Given the description of an element on the screen output the (x, y) to click on. 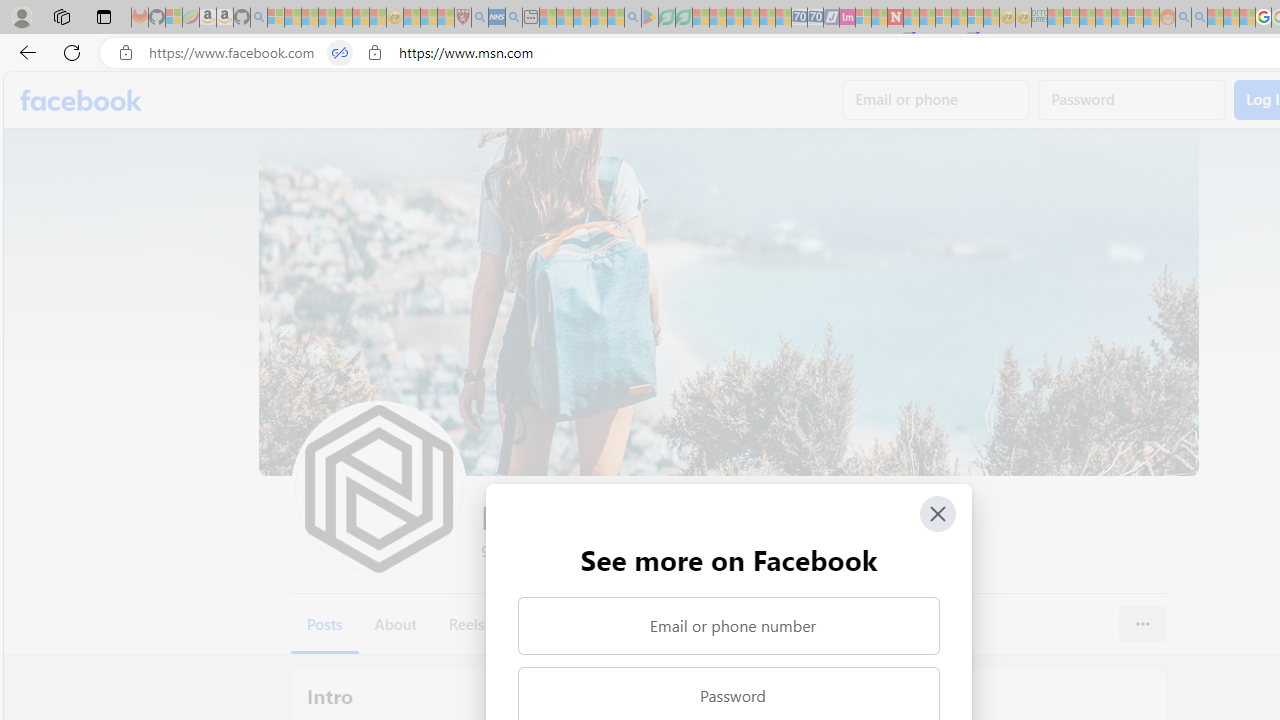
Email or phone number (728, 625)
Facebook (81, 99)
